Given the description of an element on the screen output the (x, y) to click on. 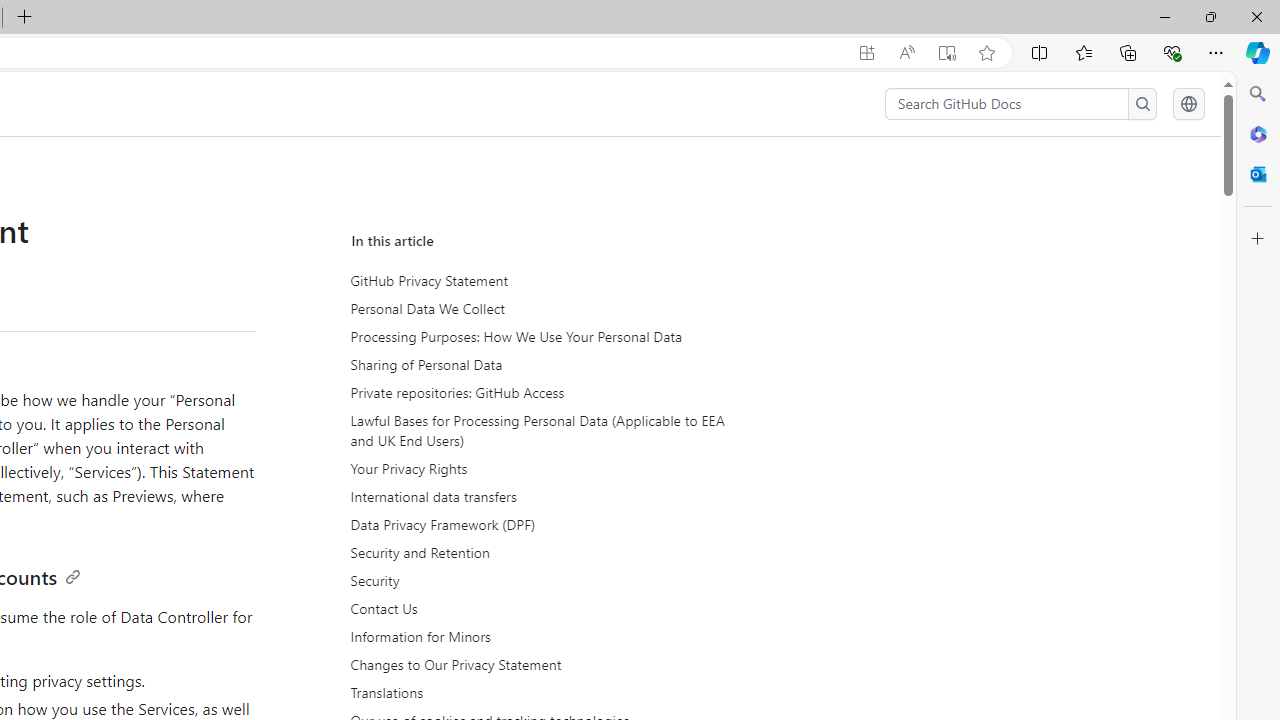
Contact Us (538, 608)
Your Privacy Rights (535, 469)
App available. Install GitHub Docs (867, 53)
Personal Data We Collect (538, 309)
